Given the description of an element on the screen output the (x, y) to click on. 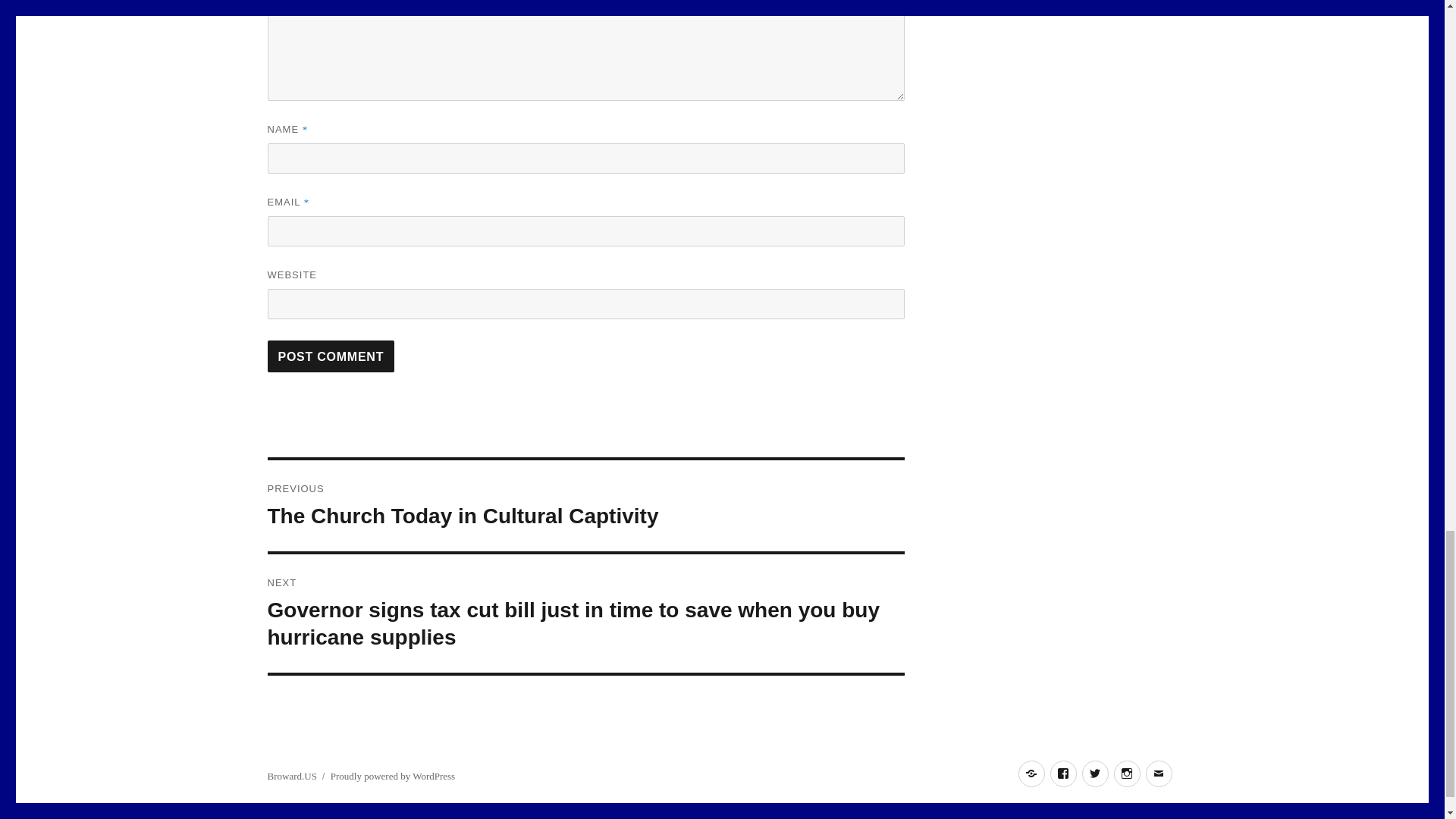
Post Comment (330, 356)
Post Comment (330, 356)
